Given the description of an element on the screen output the (x, y) to click on. 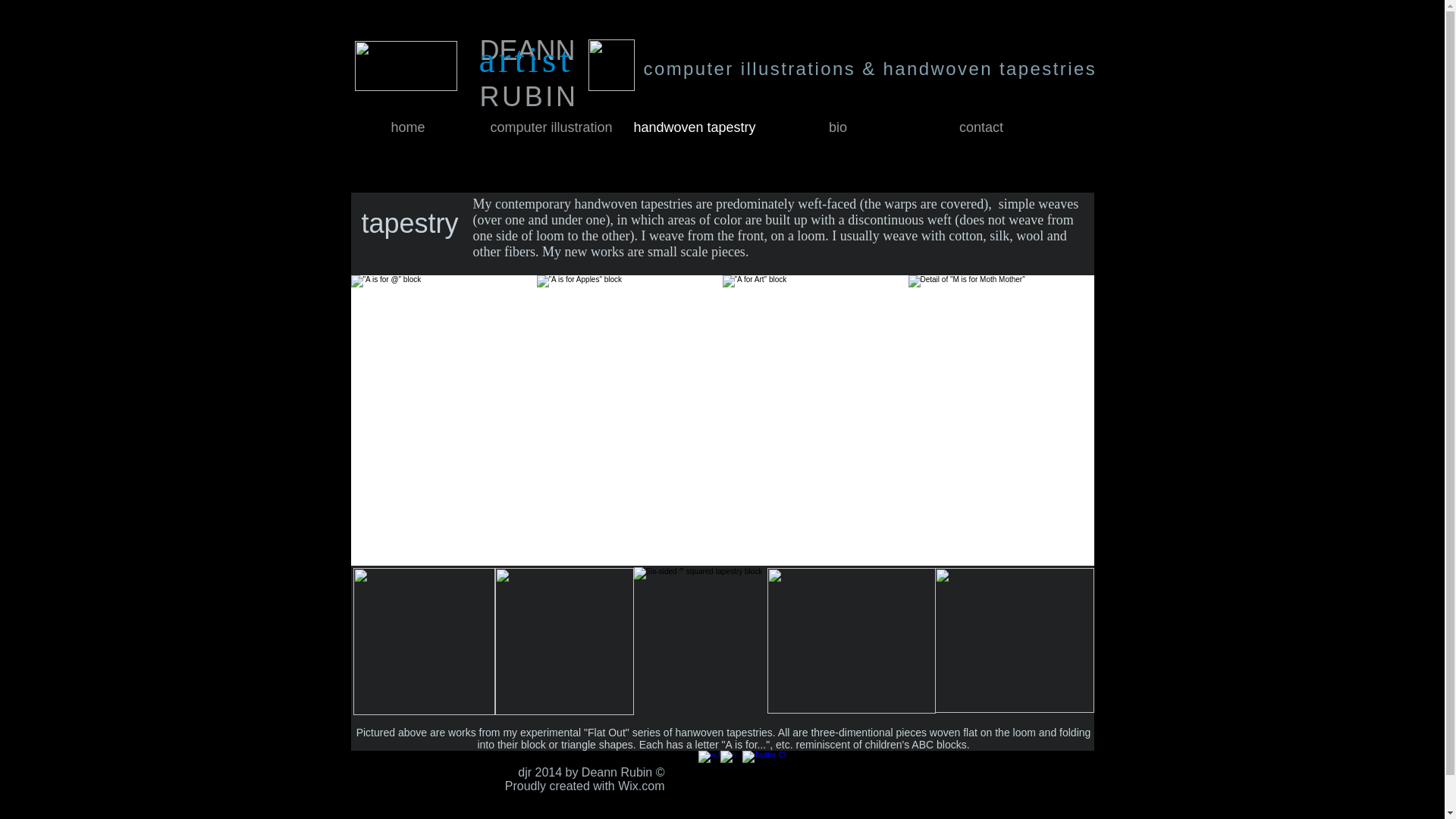
"A is for Apple" block another view (564, 641)
another view of "Y os for Why" block (1013, 640)
Wix.com (640, 785)
"J is for Jester" block (700, 640)
bio (836, 127)
home (408, 127)
contact (981, 127)
"Y is for Why" block (851, 640)
computer illustration (551, 127)
handwoven tapestry (695, 127)
